Given the description of an element on the screen output the (x, y) to click on. 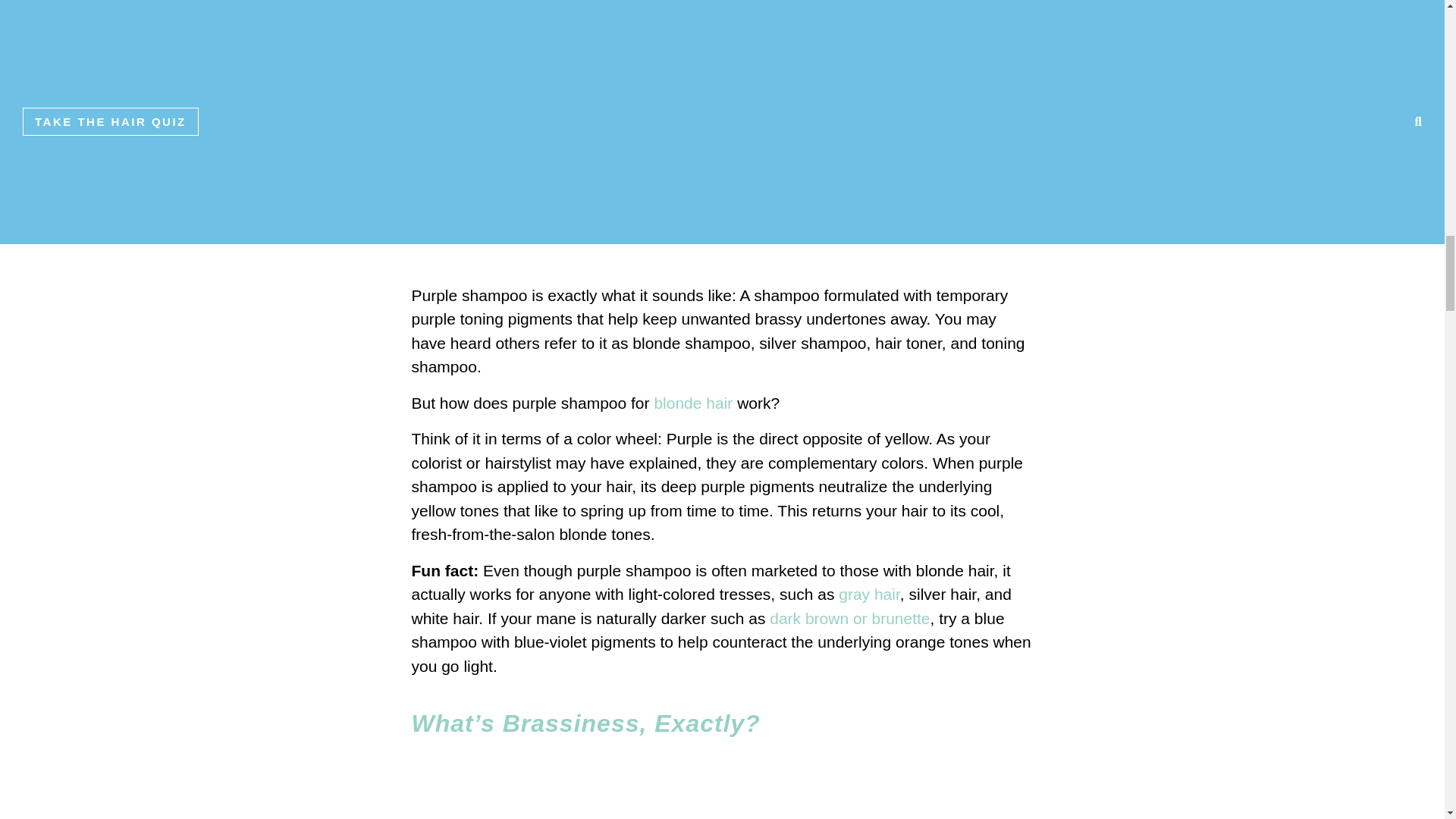
blonde hair (692, 402)
gray hair (868, 593)
dark brown or brunette (850, 618)
